Given the description of an element on the screen output the (x, y) to click on. 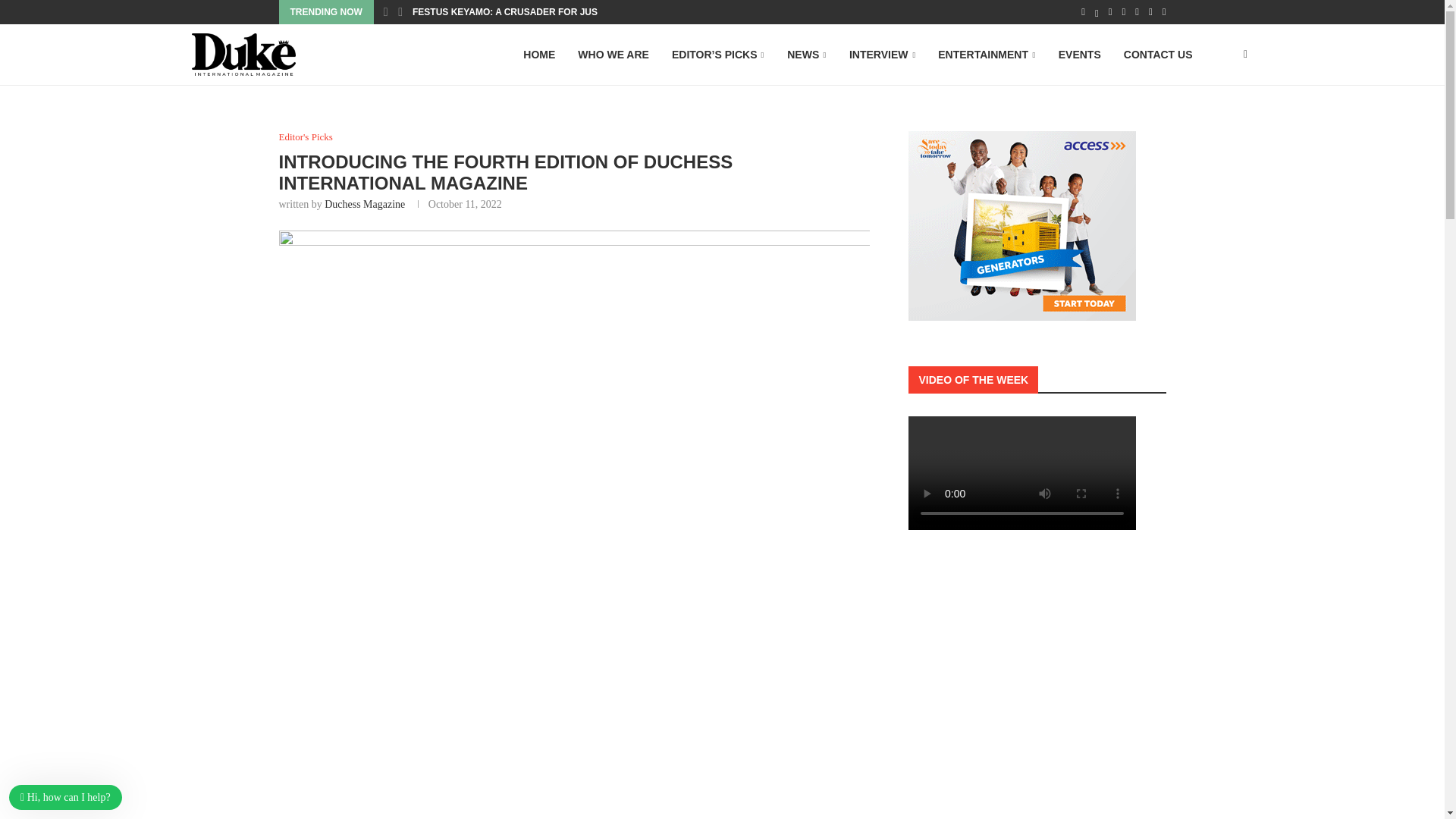
FESTUS KEYAMO: A CRUSADER FOR JUSTICE AND POLITICAL... (555, 12)
WHO WE ARE (613, 54)
HOME (539, 54)
